Given the description of an element on the screen output the (x, y) to click on. 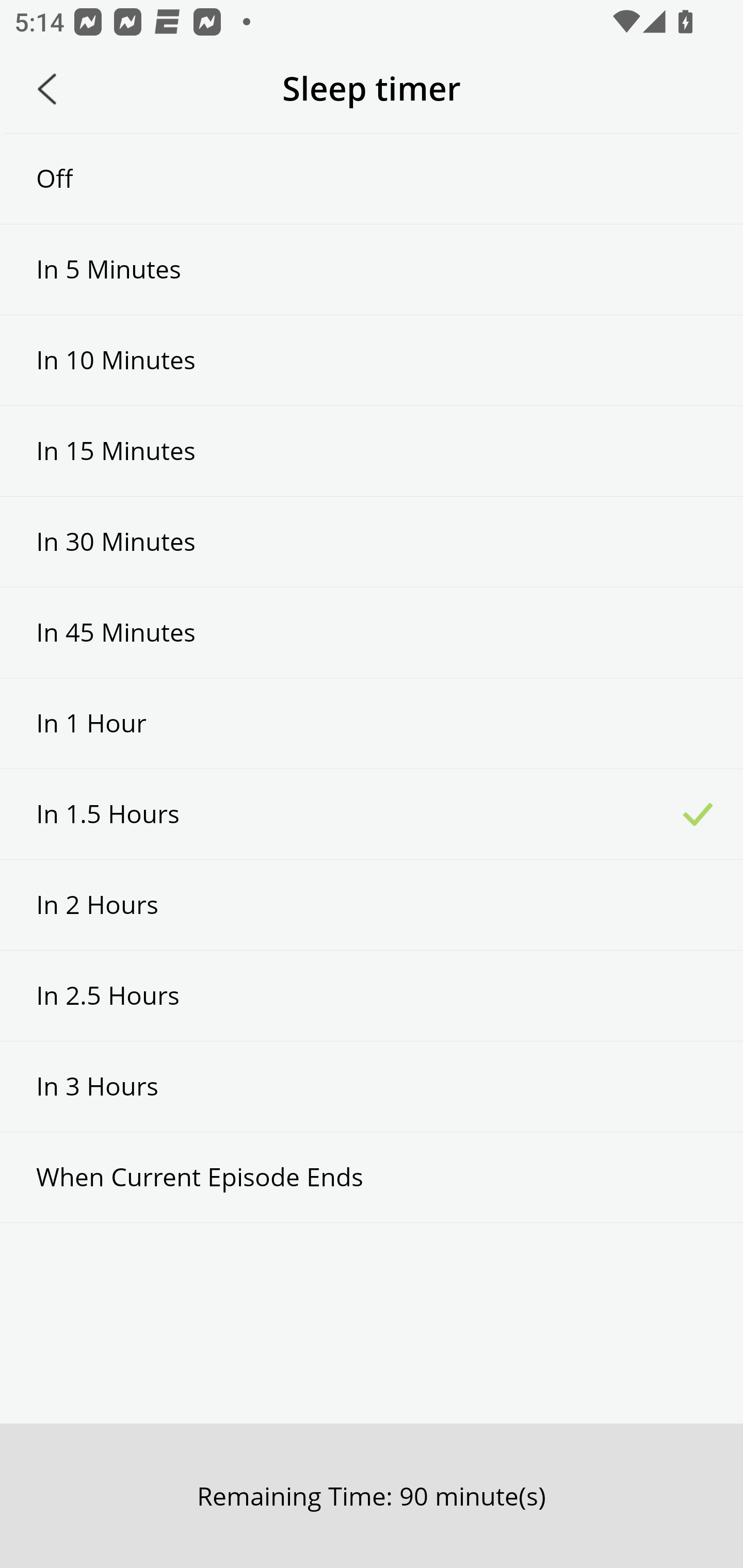
Back (46, 88)
Off (371, 178)
In 5 Minutes (371, 269)
In 10 Minutes (371, 360)
In 15 Minutes (371, 450)
In 30 Minutes (371, 541)
In 45 Minutes (371, 632)
In 1 Hour (371, 723)
In 1.5 Hours (371, 813)
In 2 Hours (371, 904)
In 2.5 Hours (371, 995)
In 3 Hours (371, 1086)
When Current Episode Ends (371, 1177)
